Given the description of an element on the screen output the (x, y) to click on. 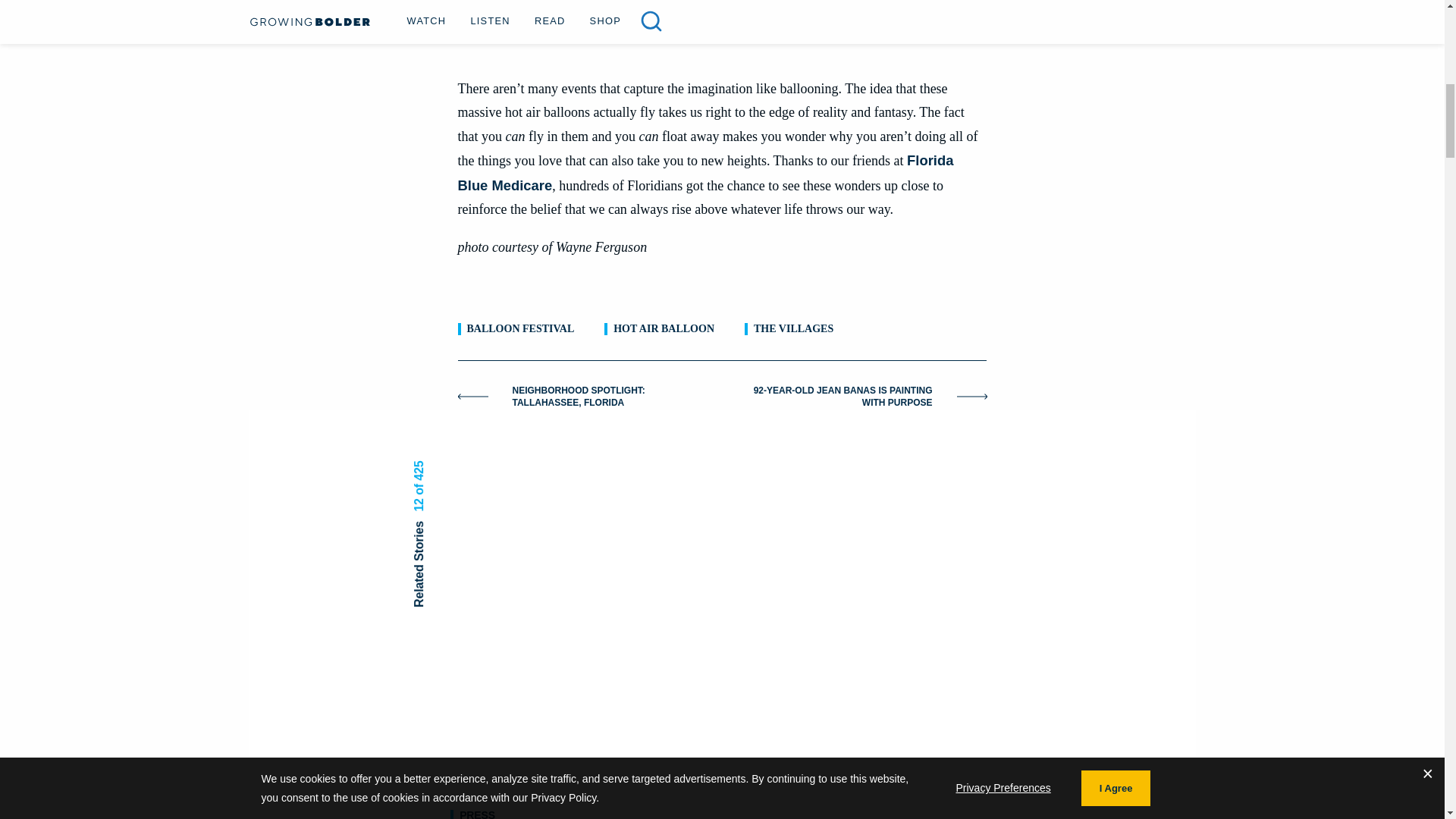
Balloon Festival at The Villages (722, 26)
Link to: Florida Blue Medicare (705, 172)
Link to: balloon festival (521, 328)
